Given the description of an element on the screen output the (x, y) to click on. 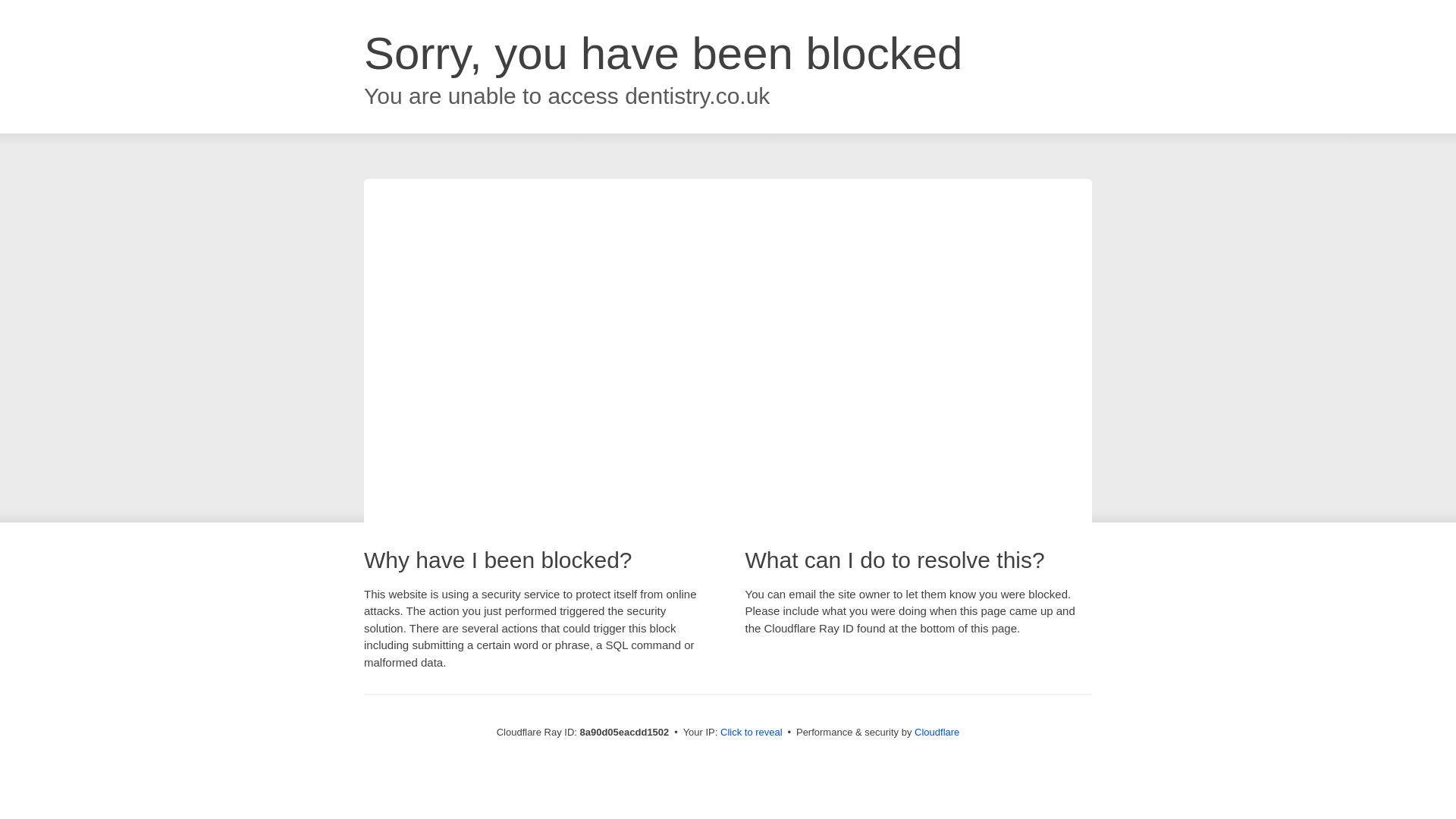
Cloudflare (936, 731)
Click to reveal (751, 732)
